Given the description of an element on the screen output the (x, y) to click on. 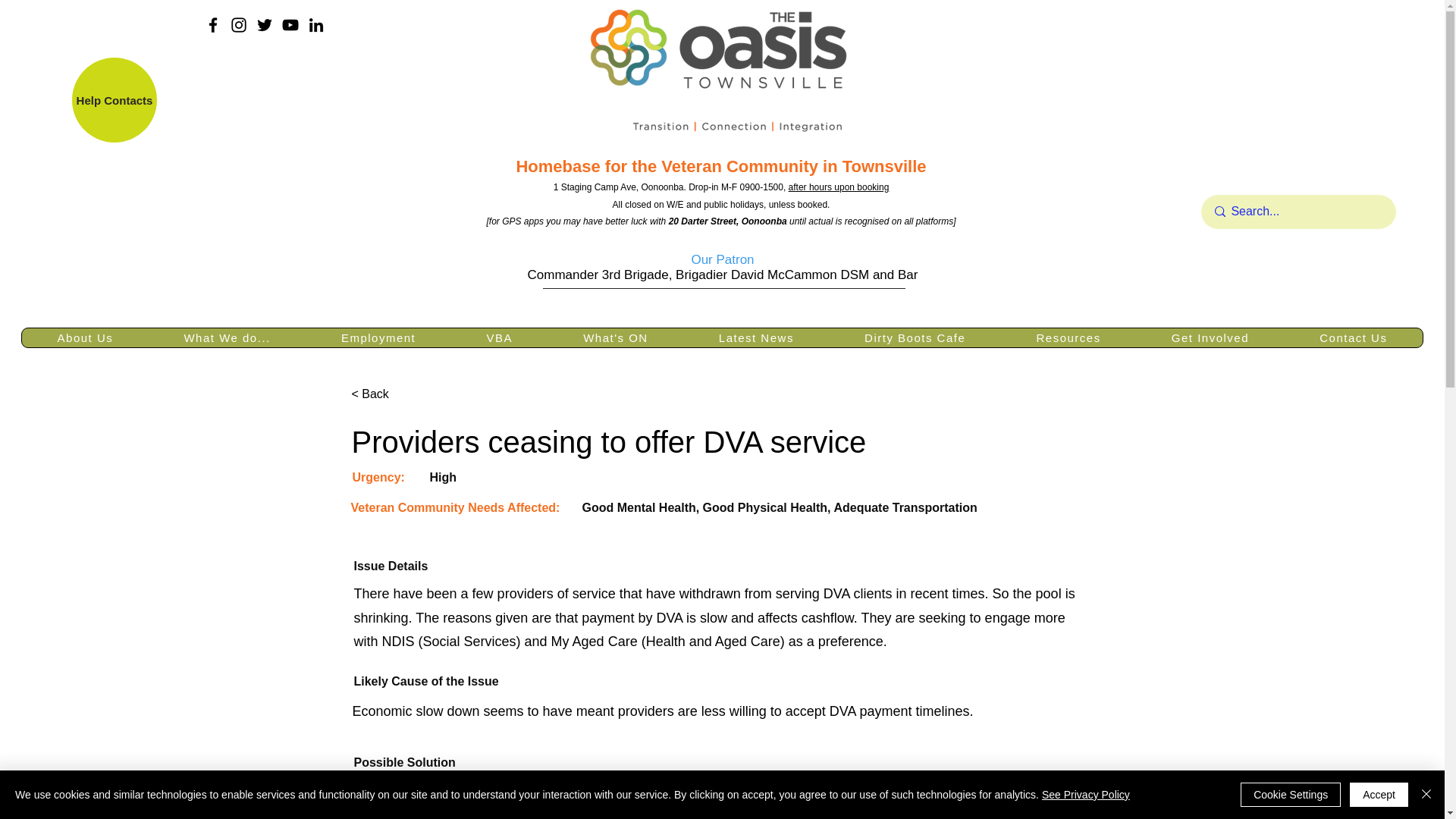
Employment (378, 337)
Help Contacts (114, 99)
after hours upon booking (839, 186)
Takes you back to Home Page (720, 72)
